Given the description of an element on the screen output the (x, y) to click on. 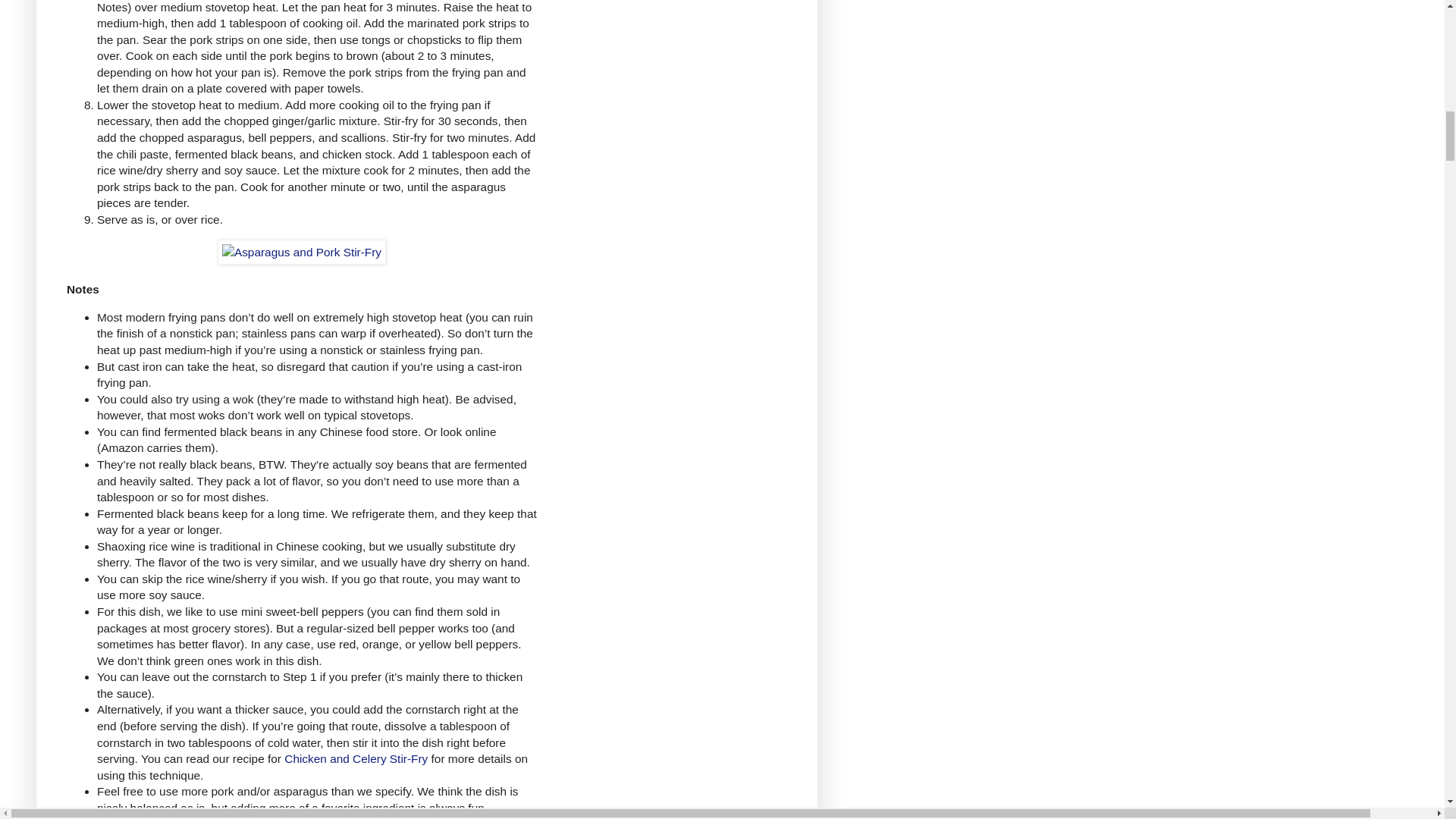
Chicken and Celery Stir-Fry (355, 758)
Asparagus and Pork Stir-Fry (300, 252)
